Given the description of an element on the screen output the (x, y) to click on. 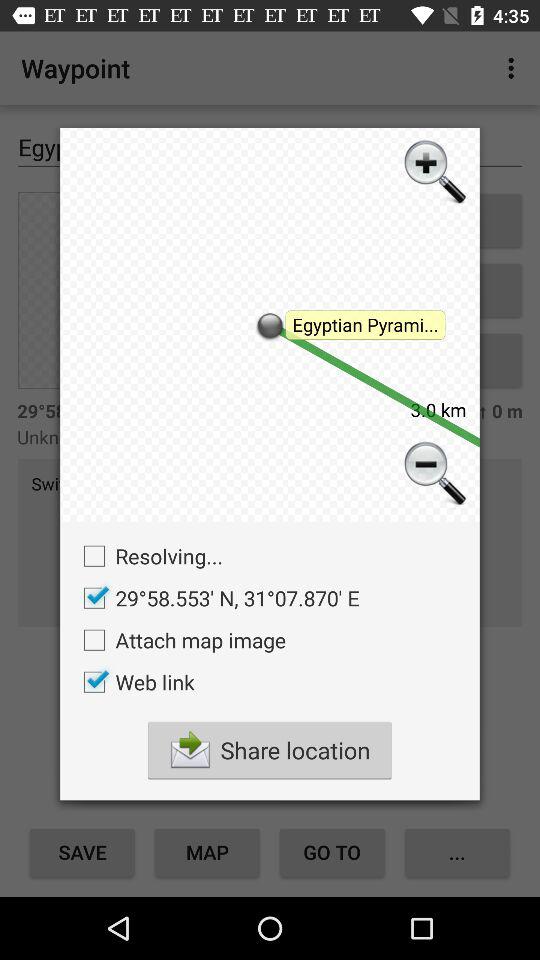
zoom out (433, 475)
